Given the description of an element on the screen output the (x, y) to click on. 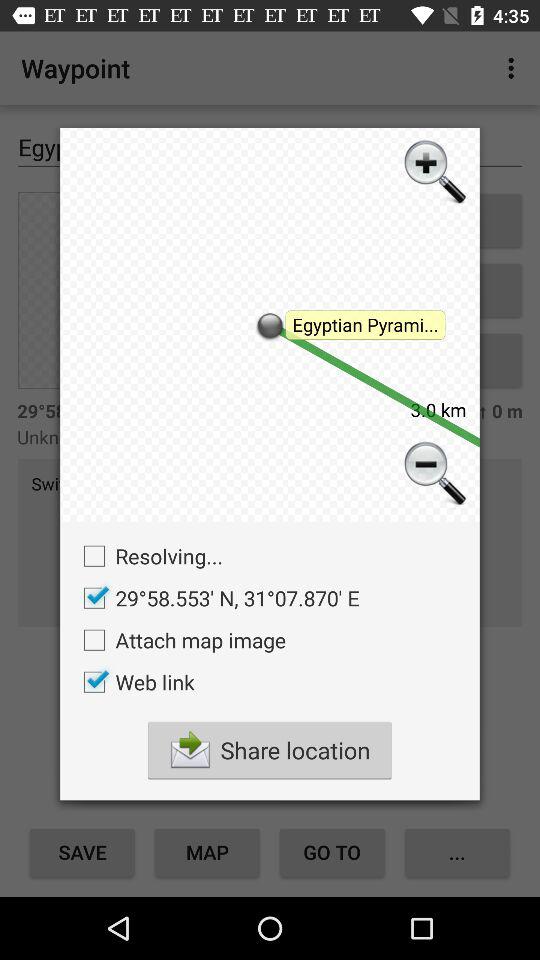
zoom out (433, 475)
